Given the description of an element on the screen output the (x, y) to click on. 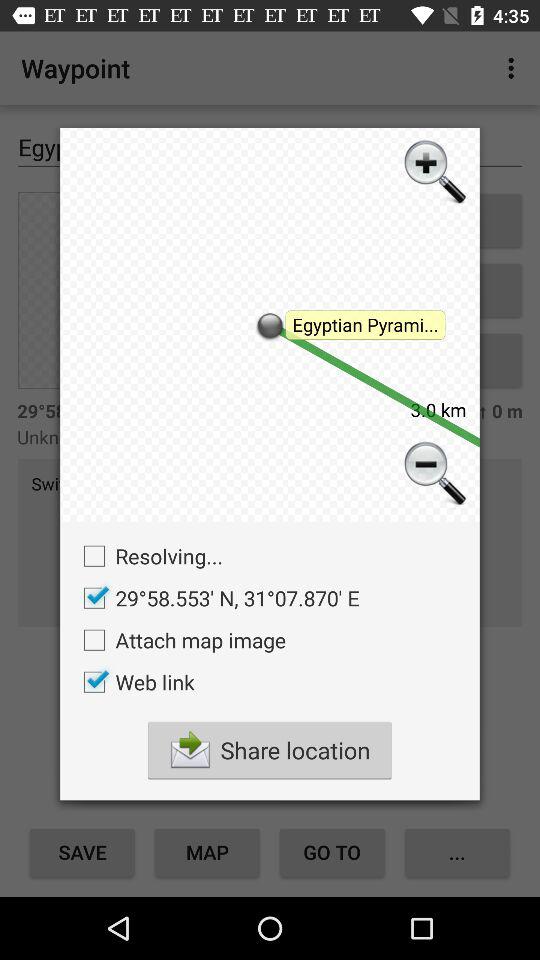
zoom out (433, 475)
